Given the description of an element on the screen output the (x, y) to click on. 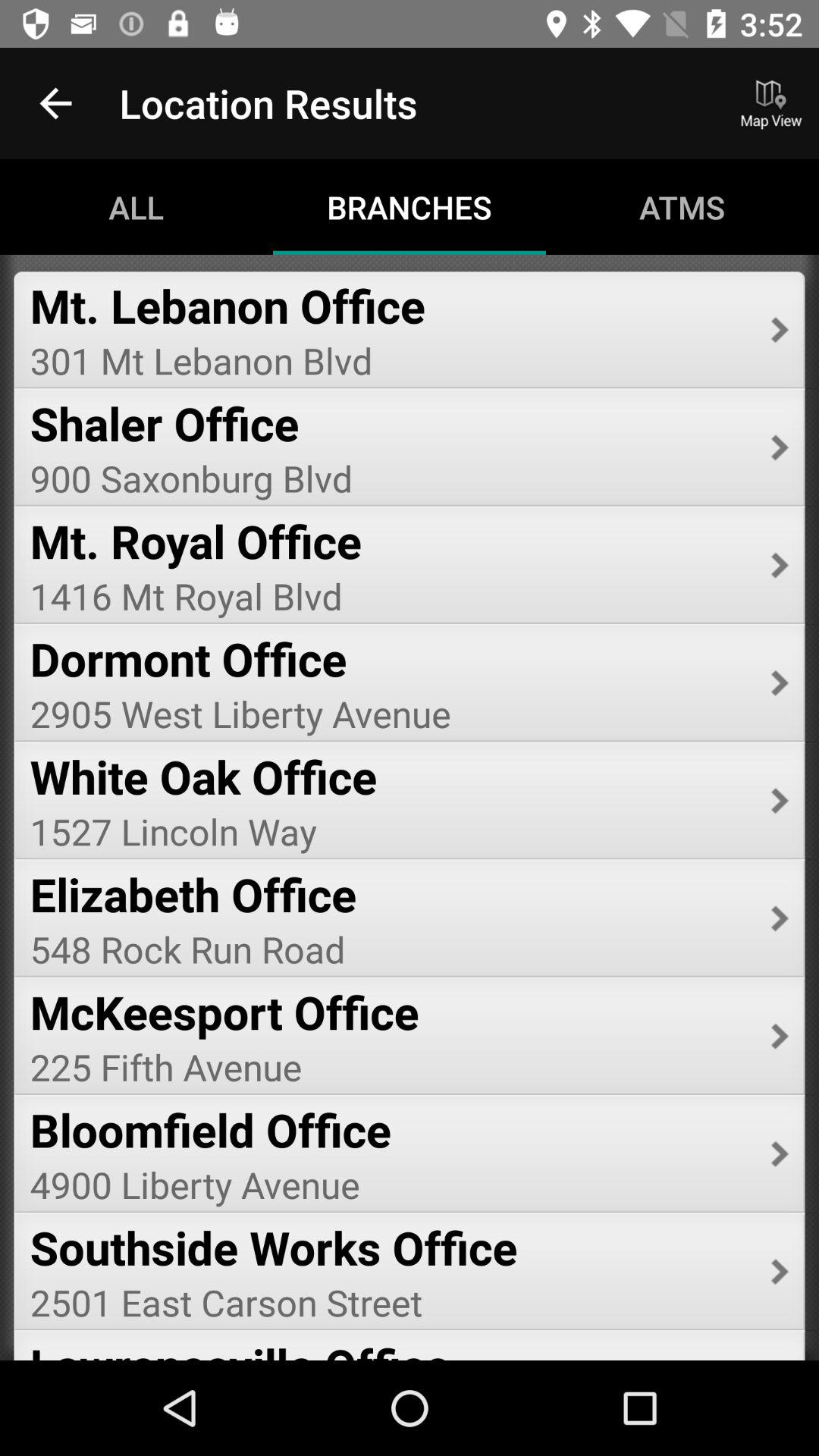
turn off icon below the 225 fifth avenue item (390, 1129)
